Given the description of an element on the screen output the (x, y) to click on. 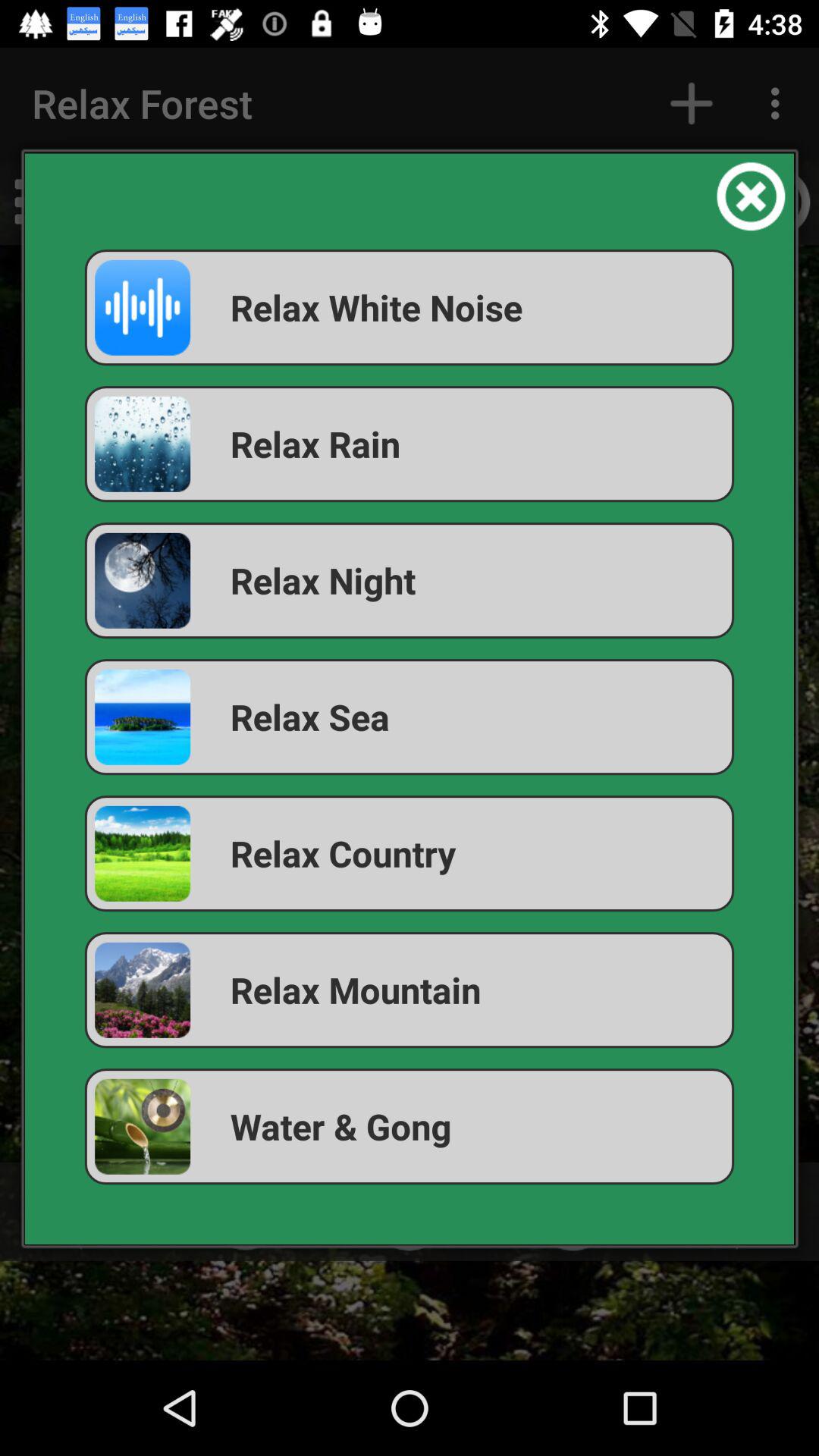
swipe to relax night item (409, 580)
